Given the description of an element on the screen output the (x, y) to click on. 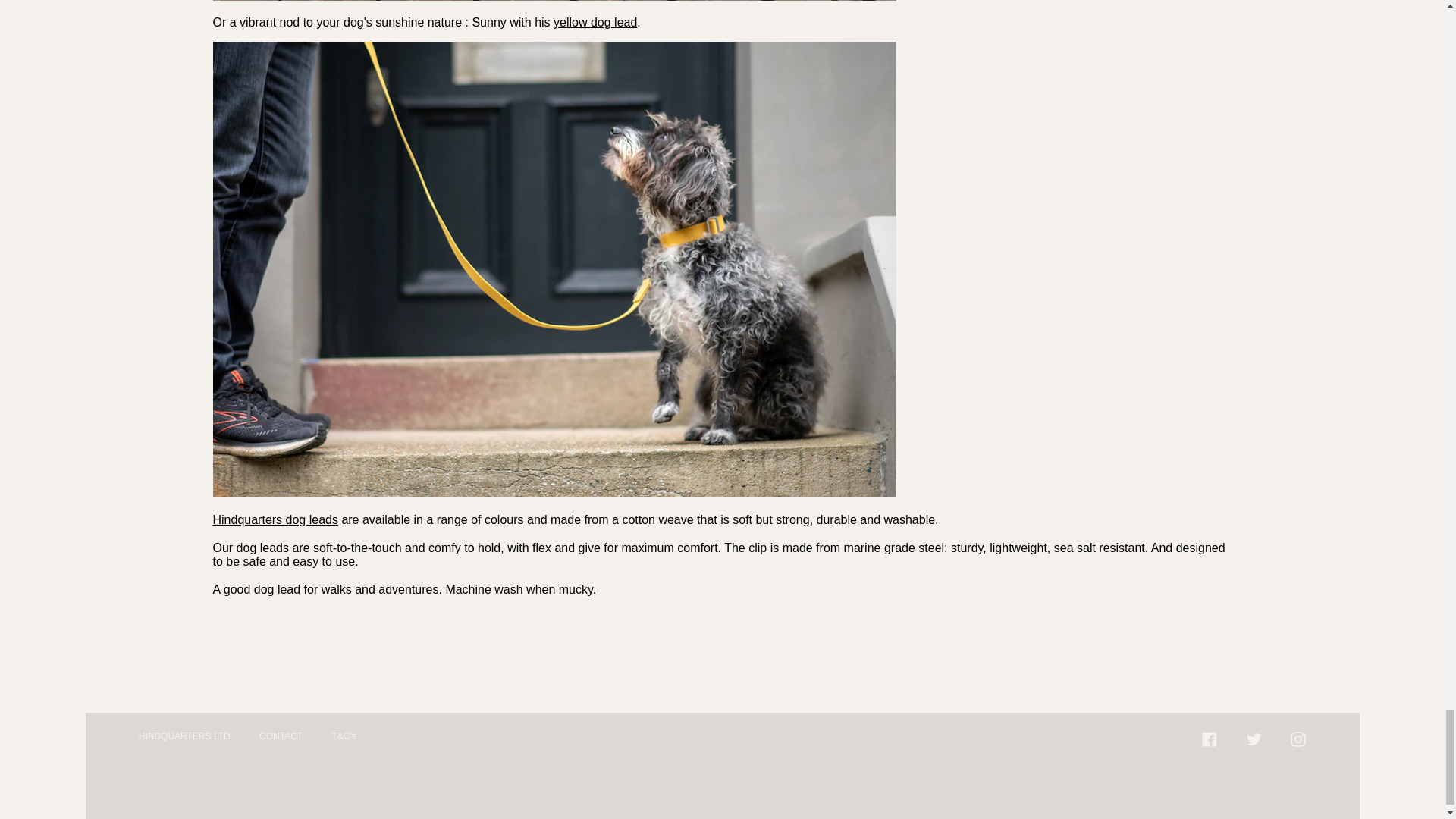
dog leads (274, 519)
slim yellow dog lead (595, 21)
HINDQUARTERS on Twitter (1254, 738)
HINDQUARTERS on Facebook (1209, 738)
